Given the description of an element on the screen output the (x, y) to click on. 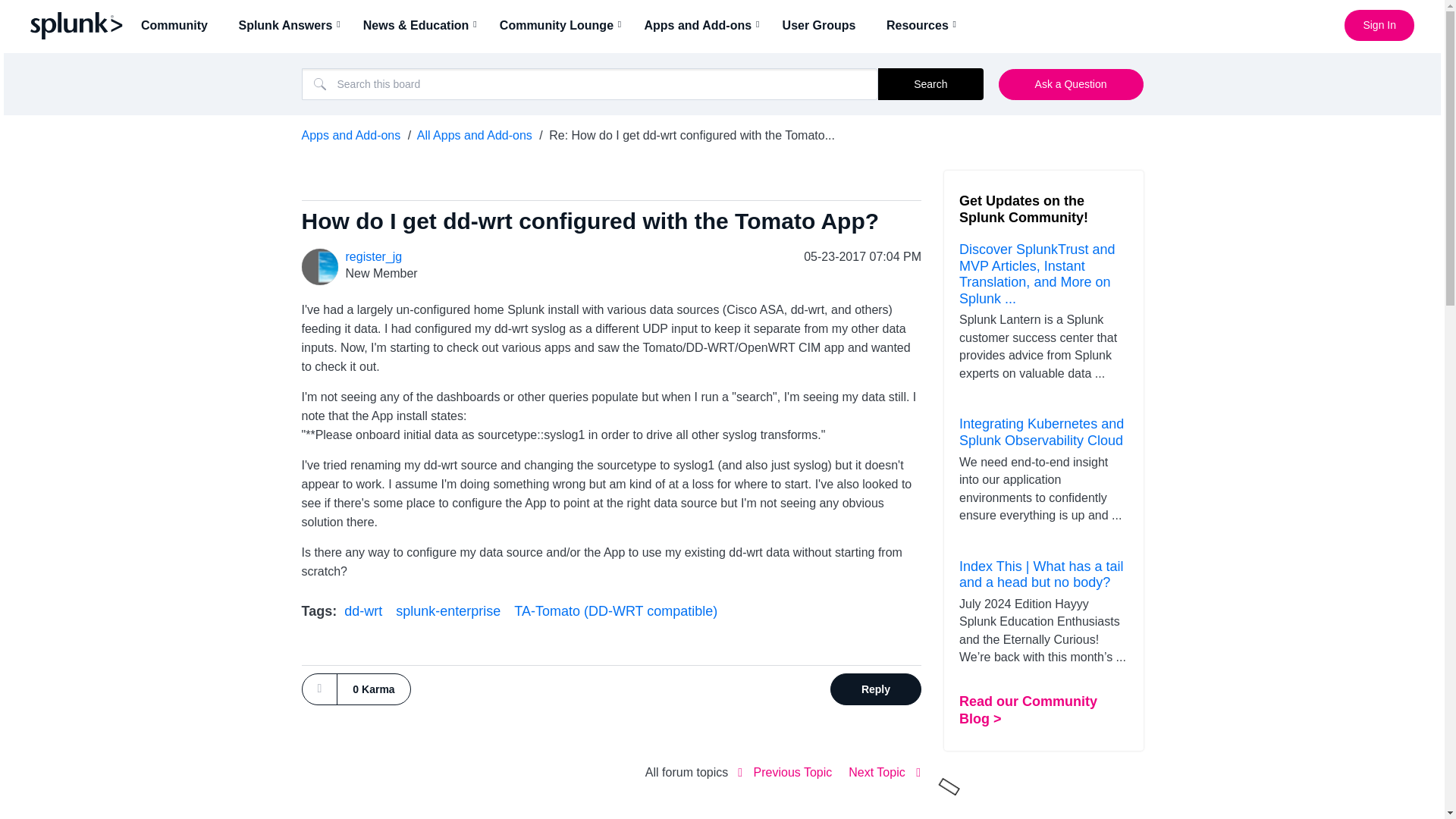
Community (178, 25)
Splunk Answers (289, 25)
Search (929, 83)
Search (929, 83)
Search (590, 83)
